Given the description of an element on the screen output the (x, y) to click on. 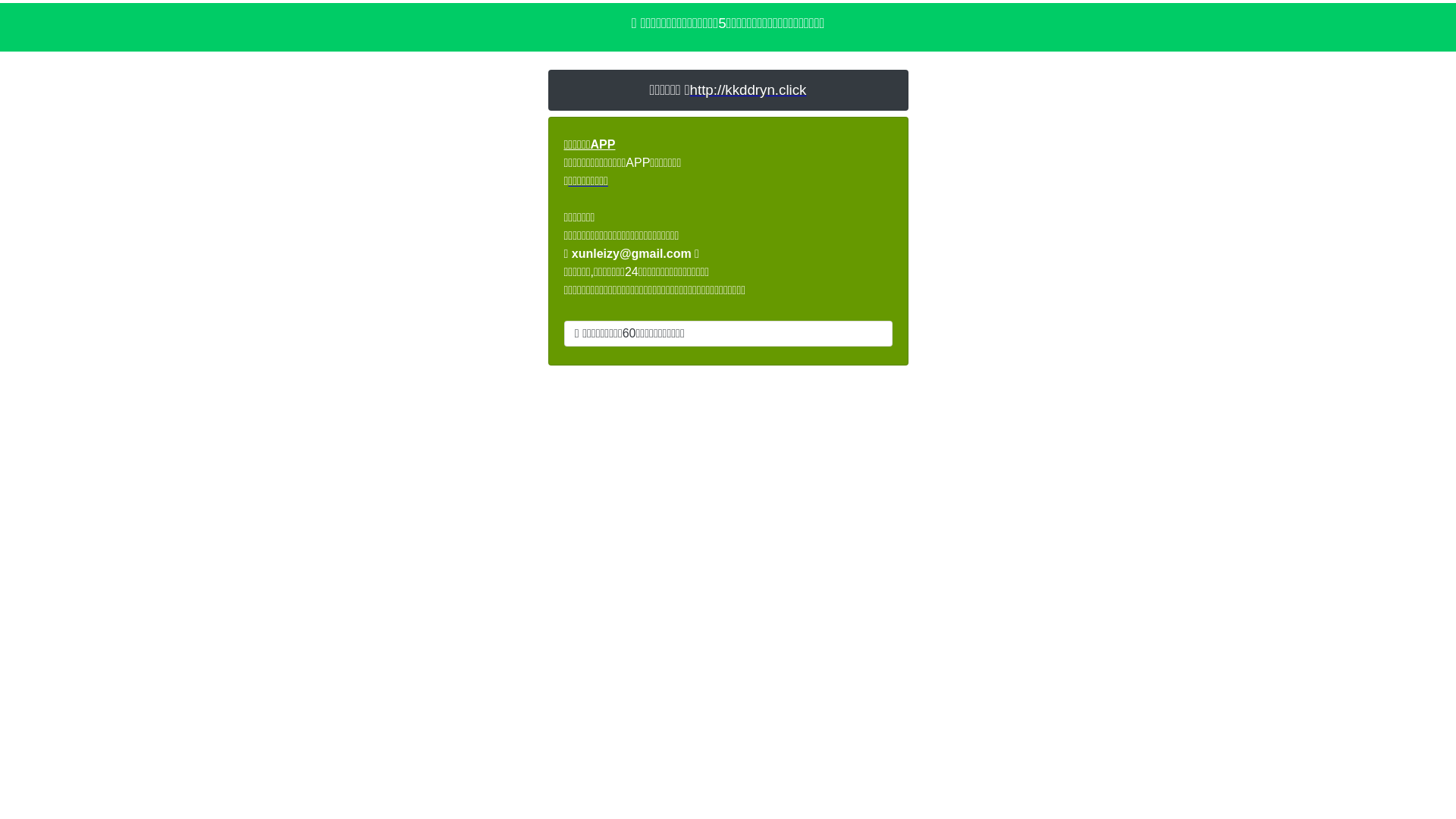
http://kkddryn.click Element type: text (748, 89)
